Given the description of an element on the screen output the (x, y) to click on. 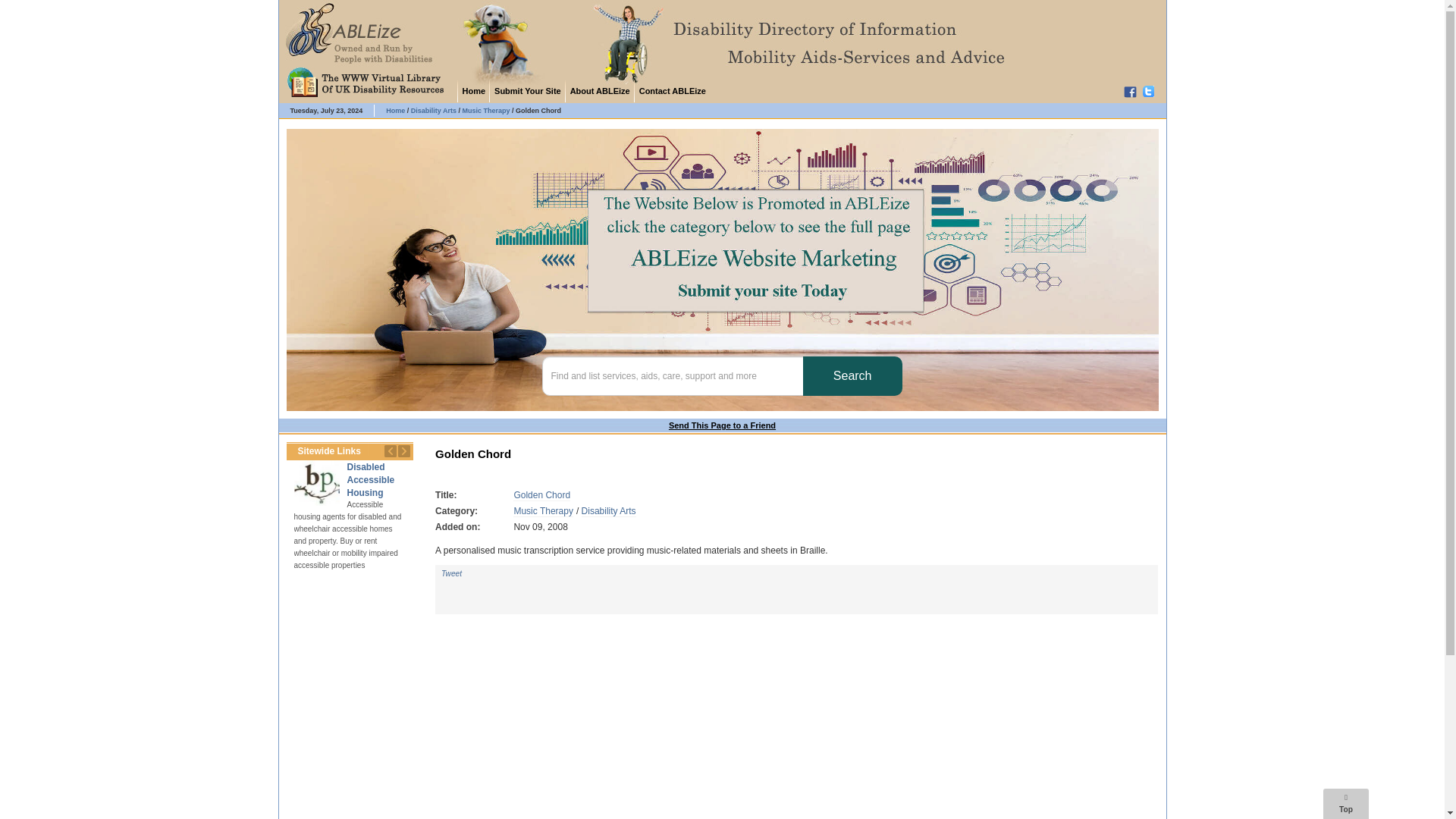
Disabled Accessible Housing (370, 479)
Twitter (1150, 91)
Disability Arts (608, 511)
About ABLEize (599, 90)
Search (852, 375)
Facebook (1131, 91)
Go to ABLEize Disability and Mobility Directory. (394, 110)
Home (394, 110)
Music Therapy (542, 511)
Previous (389, 450)
Go to the Music Therapy Directory Category archives. (485, 110)
Advertisement (796, 747)
Search (852, 375)
Golden Chord (541, 495)
Contact ABLEize (672, 90)
